Given the description of an element on the screen output the (x, y) to click on. 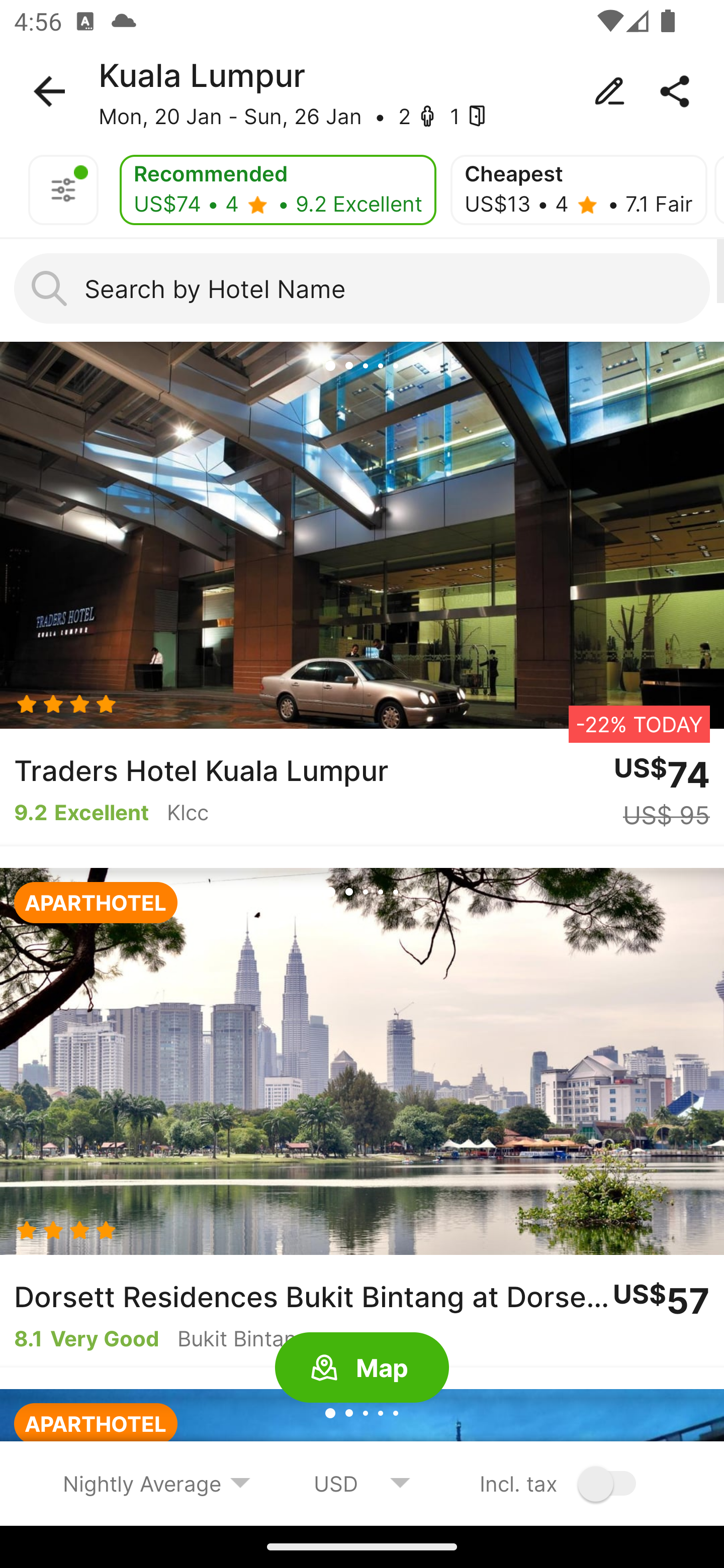
Recommended  US$74  • 4 - • 9.2 Excellent (277, 190)
Cheapest US$13  • 4 - • 7.1 Fair (578, 190)
Search by Hotel Name  (361, 288)
Map  (361, 1367)
Nightly Average (156, 1482)
USD (361, 1482)
